Given the description of an element on the screen output the (x, y) to click on. 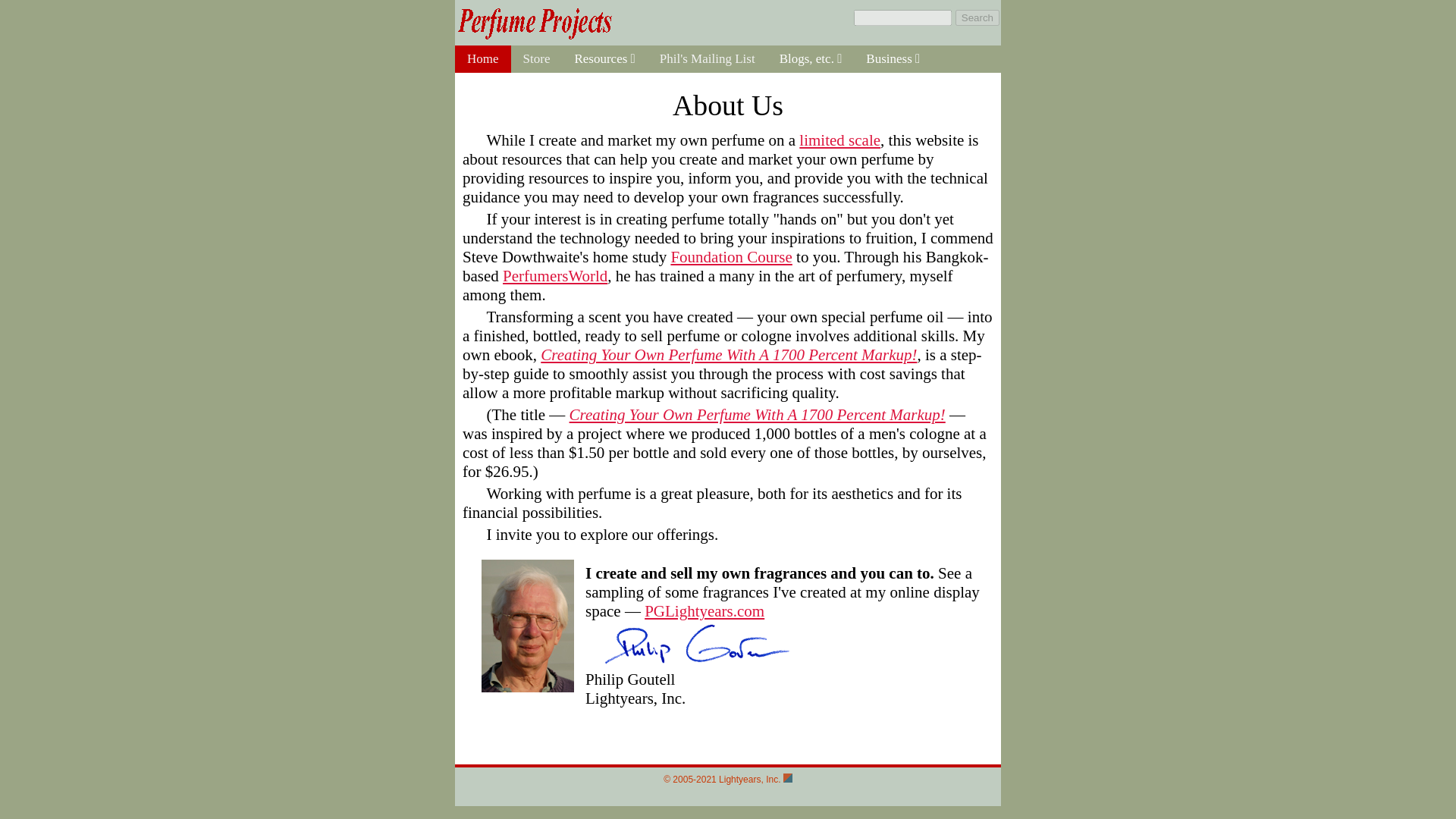
Home (482, 58)
Blogs, etc. (810, 58)
Business (892, 58)
PerfumersWorld (554, 275)
limited scale (839, 140)
Search (976, 17)
Phil's Mailing List (707, 58)
Resources (604, 58)
Creating Your Own Perfume With A 1700 Percent Markup! (728, 354)
Store (536, 58)
